Given the description of an element on the screen output the (x, y) to click on. 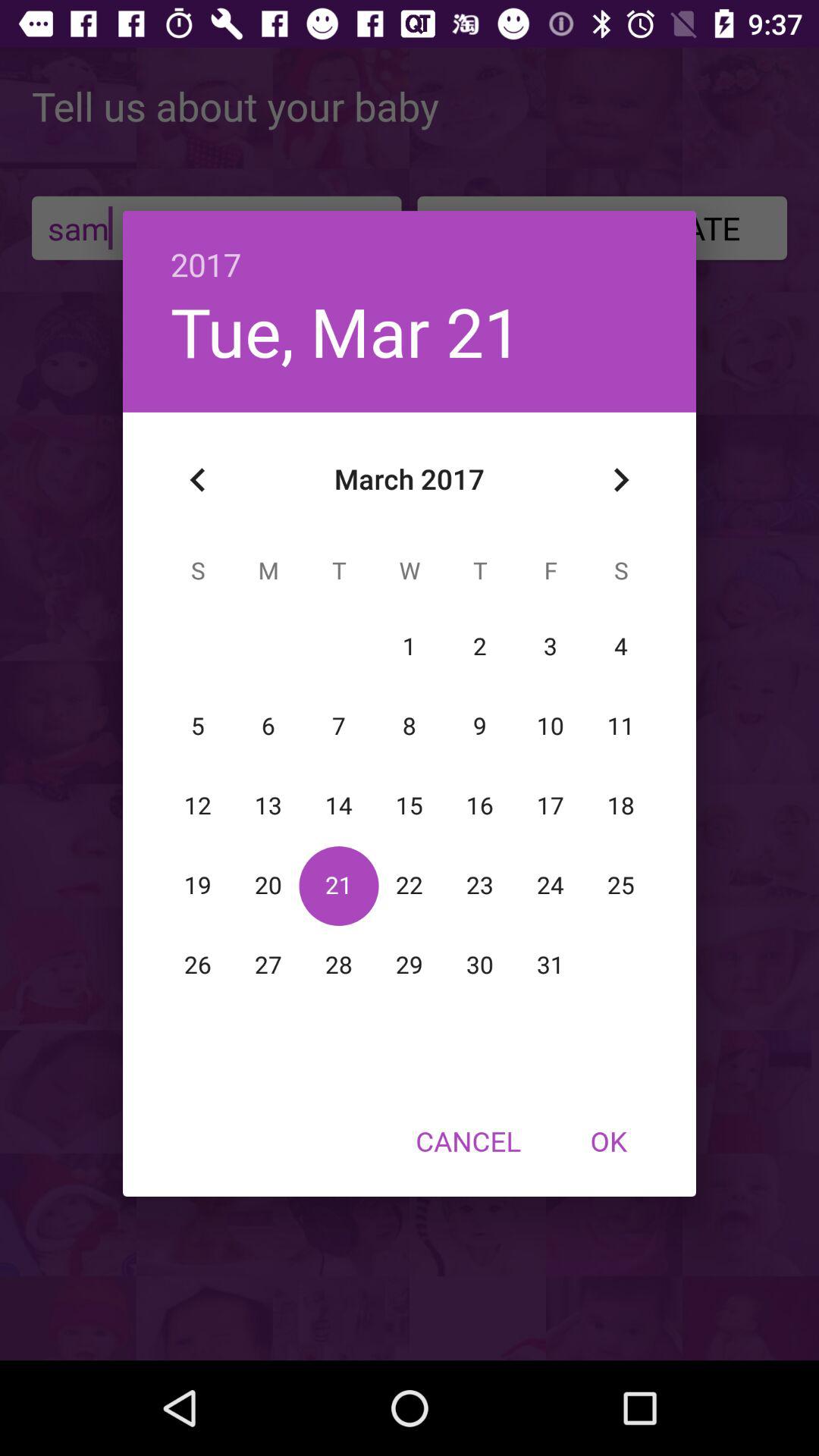
swipe to the tue, mar 21 icon (346, 331)
